Given the description of an element on the screen output the (x, y) to click on. 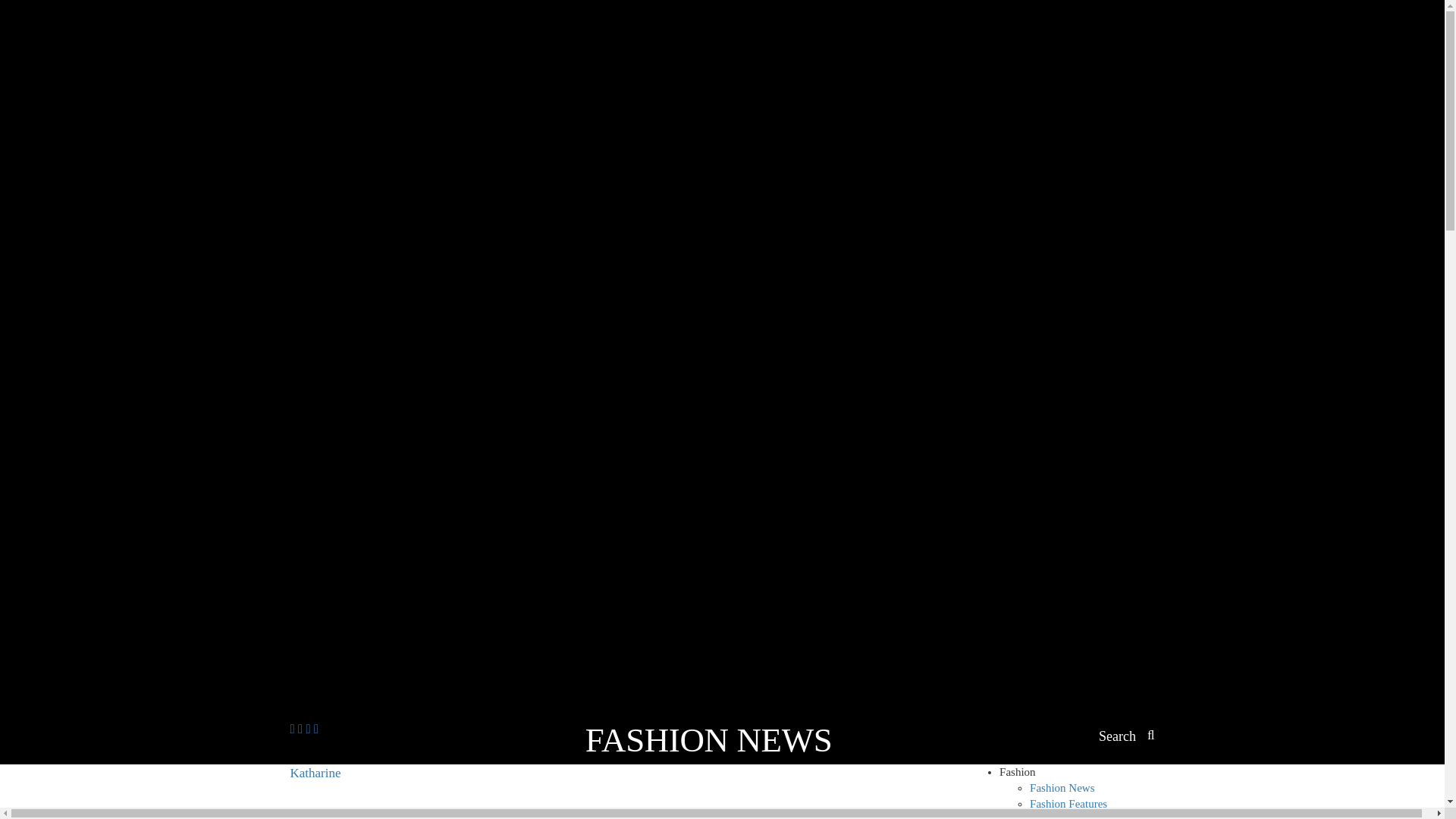
iFashion Network (342, 791)
Search (1126, 737)
Katharine (342, 791)
Fashion Features (1067, 803)
Fashion (1016, 771)
Fashion News (1061, 787)
